Given the description of an element on the screen output the (x, y) to click on. 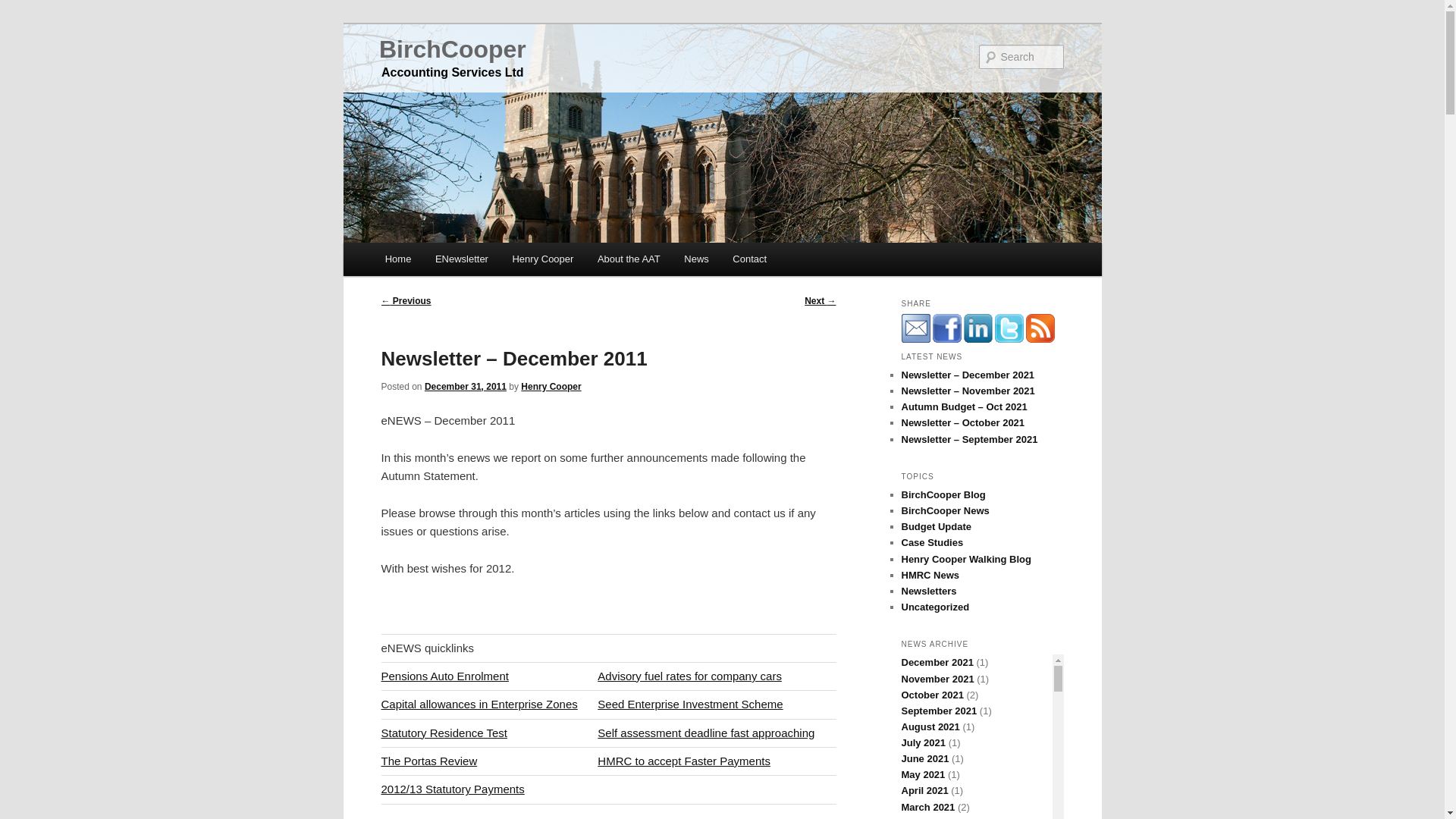
Self assessment deadline fast approaching (704, 732)
Pensions Auto Enrolment (444, 675)
4:39 pm (465, 386)
follow us on twitter (1008, 328)
visit our facebook page (946, 328)
HMRC to accept Faster Payments (683, 760)
Skip to secondary content (459, 261)
subscribe to our email newsletter (915, 328)
subscribe to our rss feed (1039, 328)
Henry Cooper (550, 386)
Skip to secondary content (459, 261)
Advisory fuel rates for company cars (688, 675)
Contact (749, 258)
Capital allowances in Enterprise Zones (478, 703)
December 31, 2011 (465, 386)
